Given the description of an element on the screen output the (x, y) to click on. 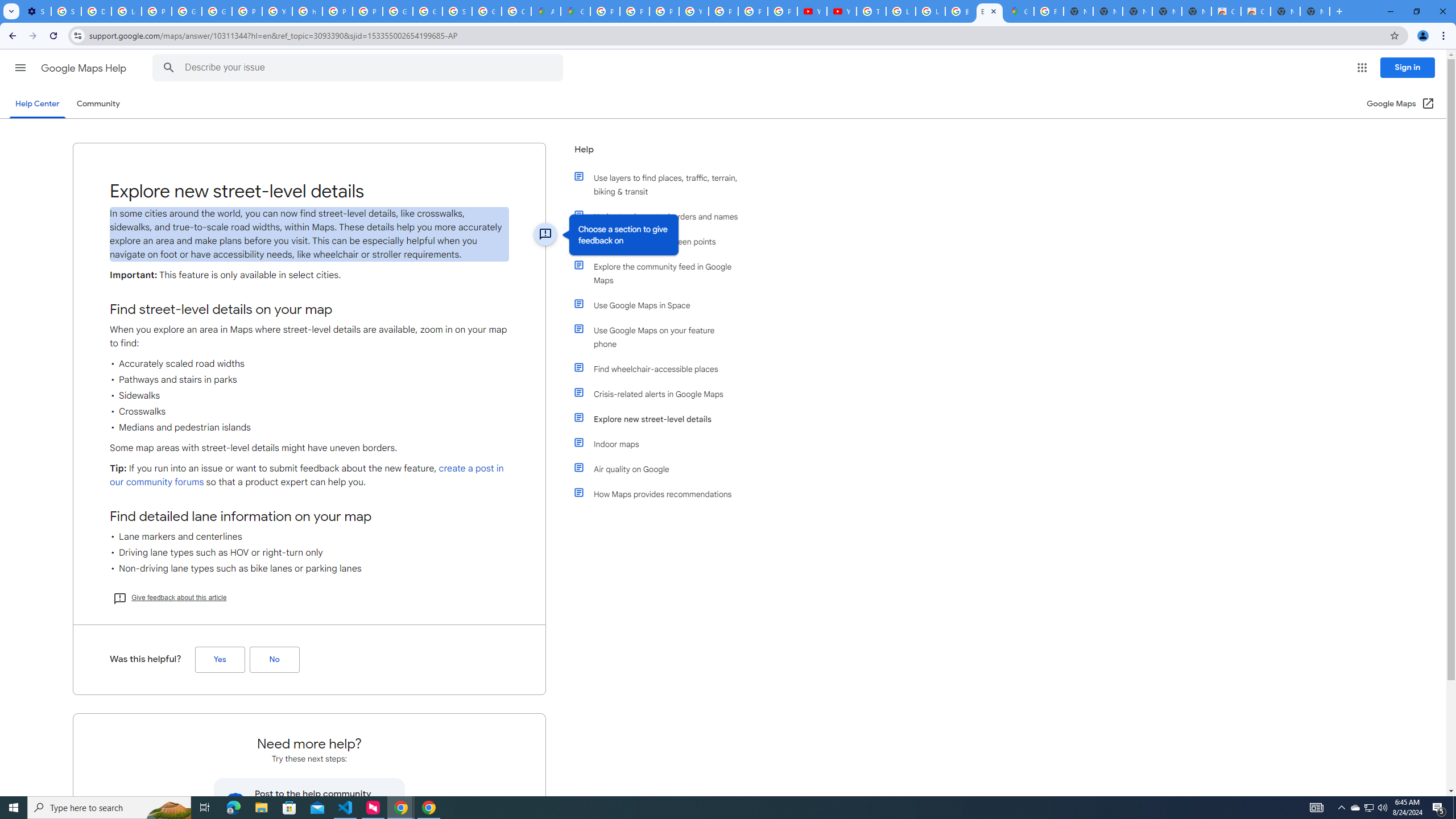
Settings - On startup (36, 11)
Google Maps (575, 11)
Use Google Maps in Space (661, 305)
Google Maps (Open in a new window) (1400, 103)
Privacy Help Center - Policies Help (634, 11)
Important: This feature is only available in select cities. (309, 274)
Air quality on Google (661, 469)
